Given the description of an element on the screen output the (x, y) to click on. 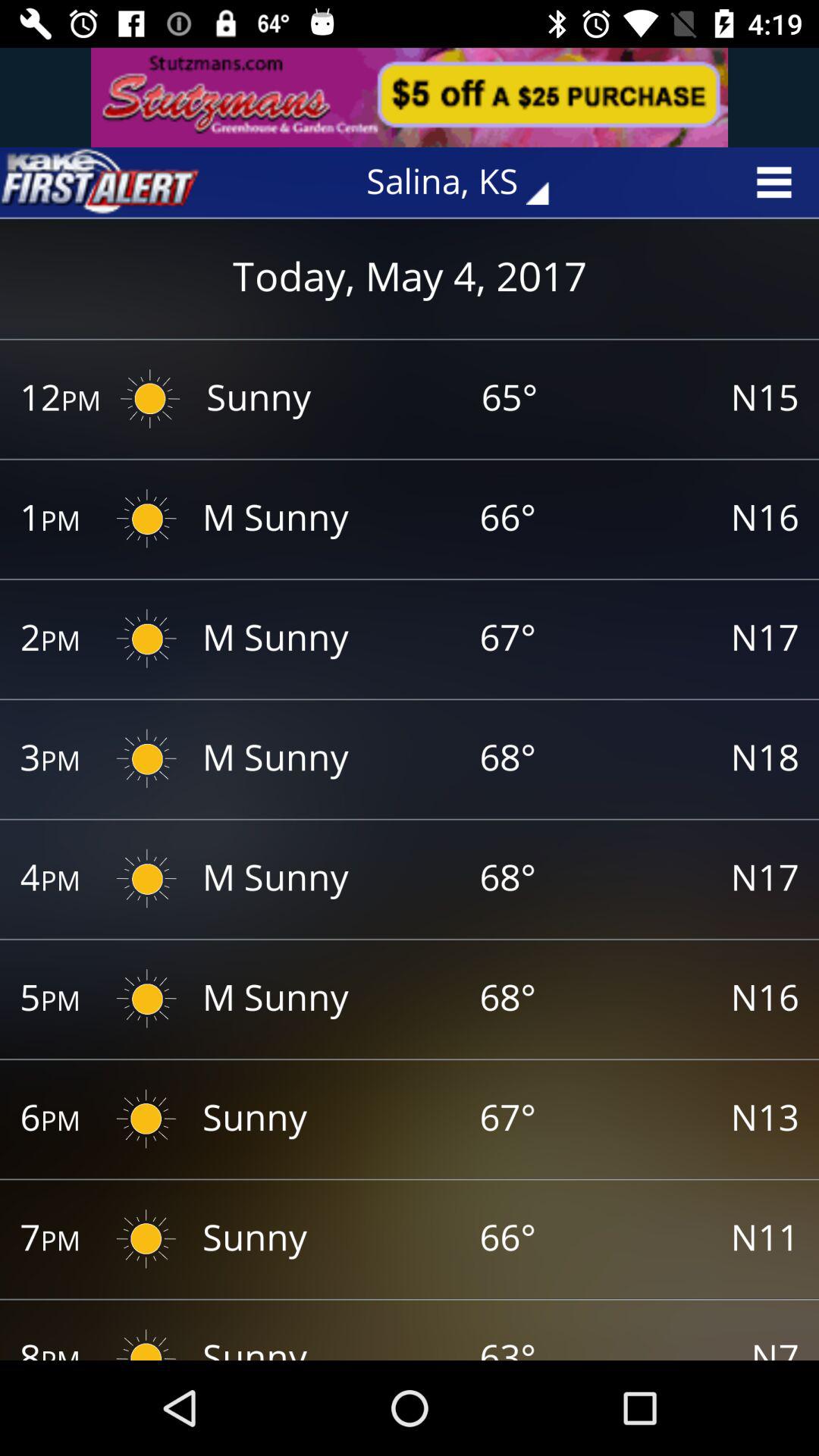
return to the main screen (99, 182)
